Given the description of an element on the screen output the (x, y) to click on. 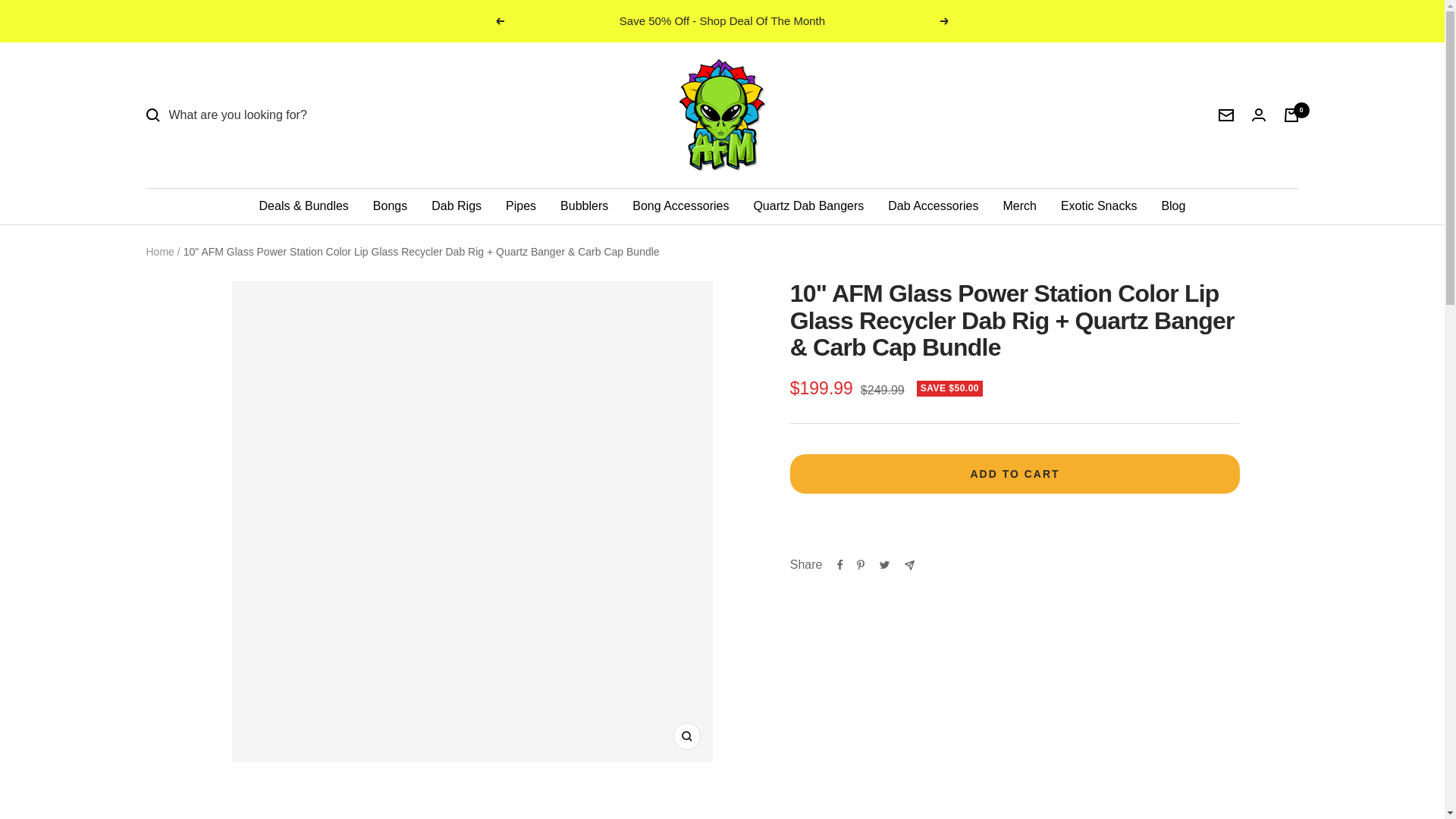
Dab Accessories (933, 206)
Bong Accessories (680, 206)
Merch (1019, 206)
Dab Rigs (455, 206)
Previous (499, 21)
0 (1290, 115)
Exotic Snacks (1099, 206)
Blog (1172, 206)
Pipes (520, 206)
Bubblers (584, 206)
